Given the description of an element on the screen output the (x, y) to click on. 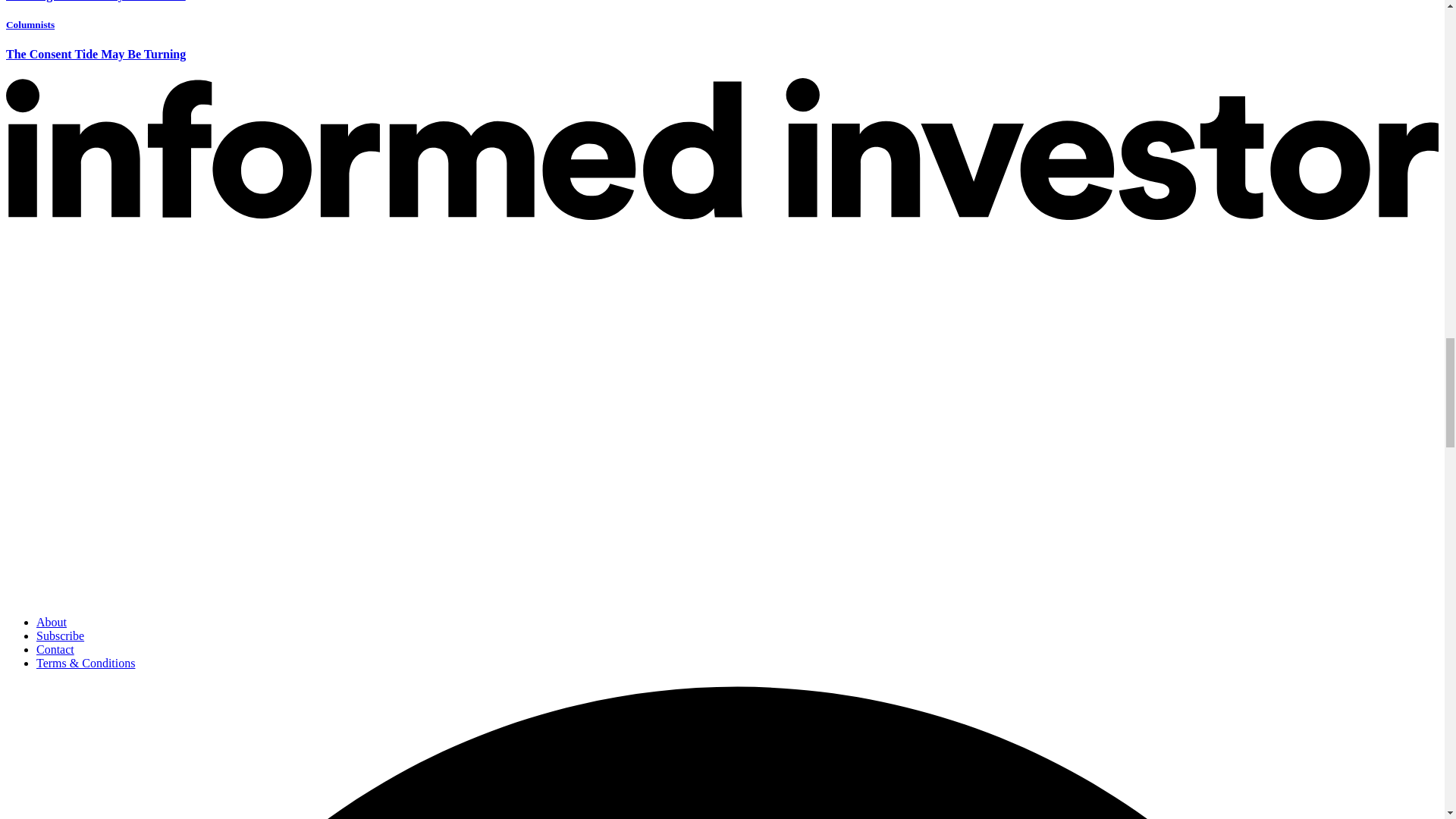
Subscribe (60, 635)
Contact (55, 649)
About (51, 621)
